Given the description of an element on the screen output the (x, y) to click on. 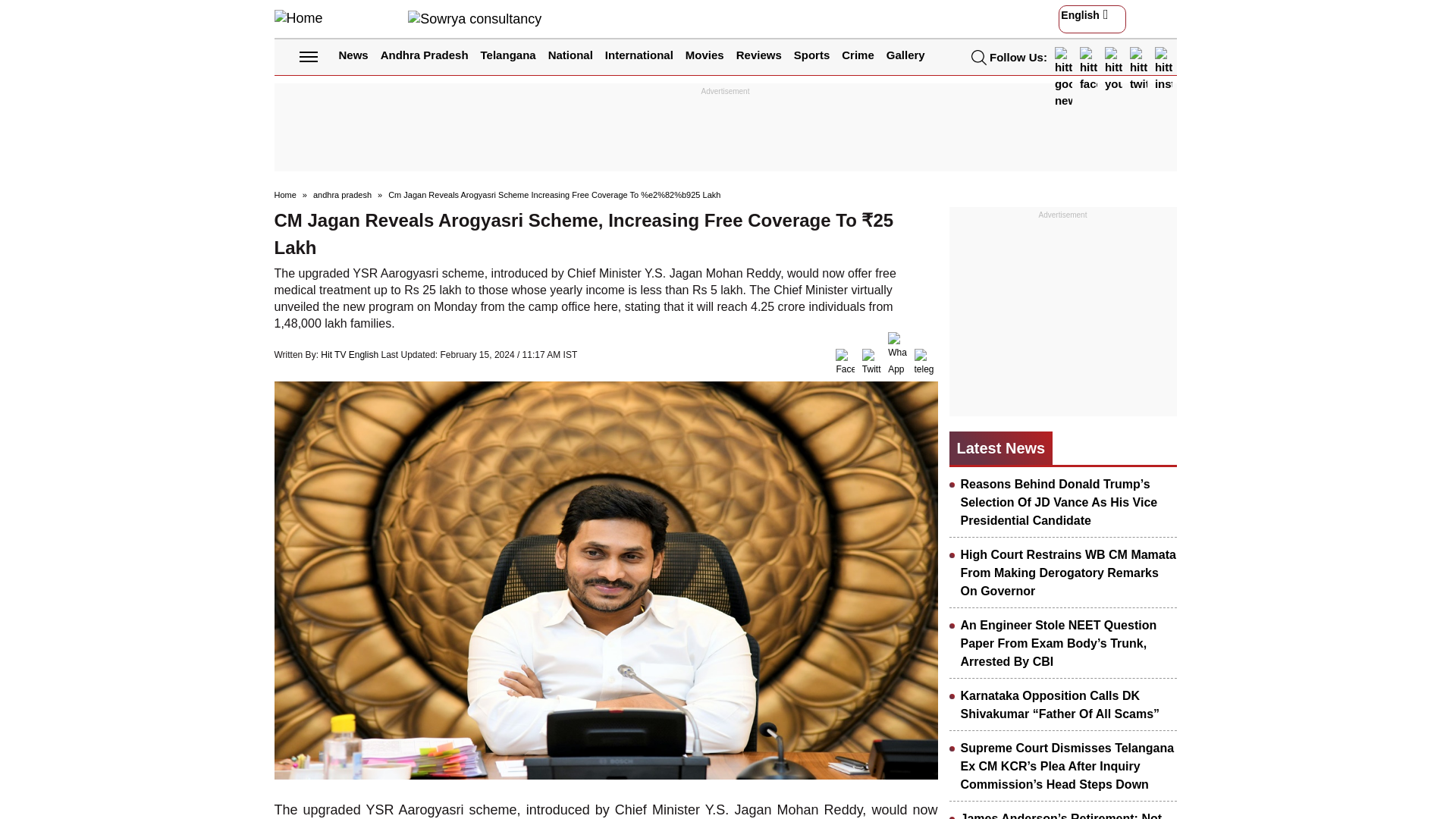
Home (299, 17)
Sowrya consultancy (474, 18)
International (638, 54)
News (352, 54)
Reviews (758, 54)
Andhra Pradesh (424, 54)
Telangana (507, 54)
National (570, 54)
Telangana (507, 54)
Sowrya consultancy (474, 18)
Andhra Pradesh (424, 54)
Movies (704, 54)
International (638, 54)
Gallery (905, 54)
Crime (858, 54)
